Given the description of an element on the screen output the (x, y) to click on. 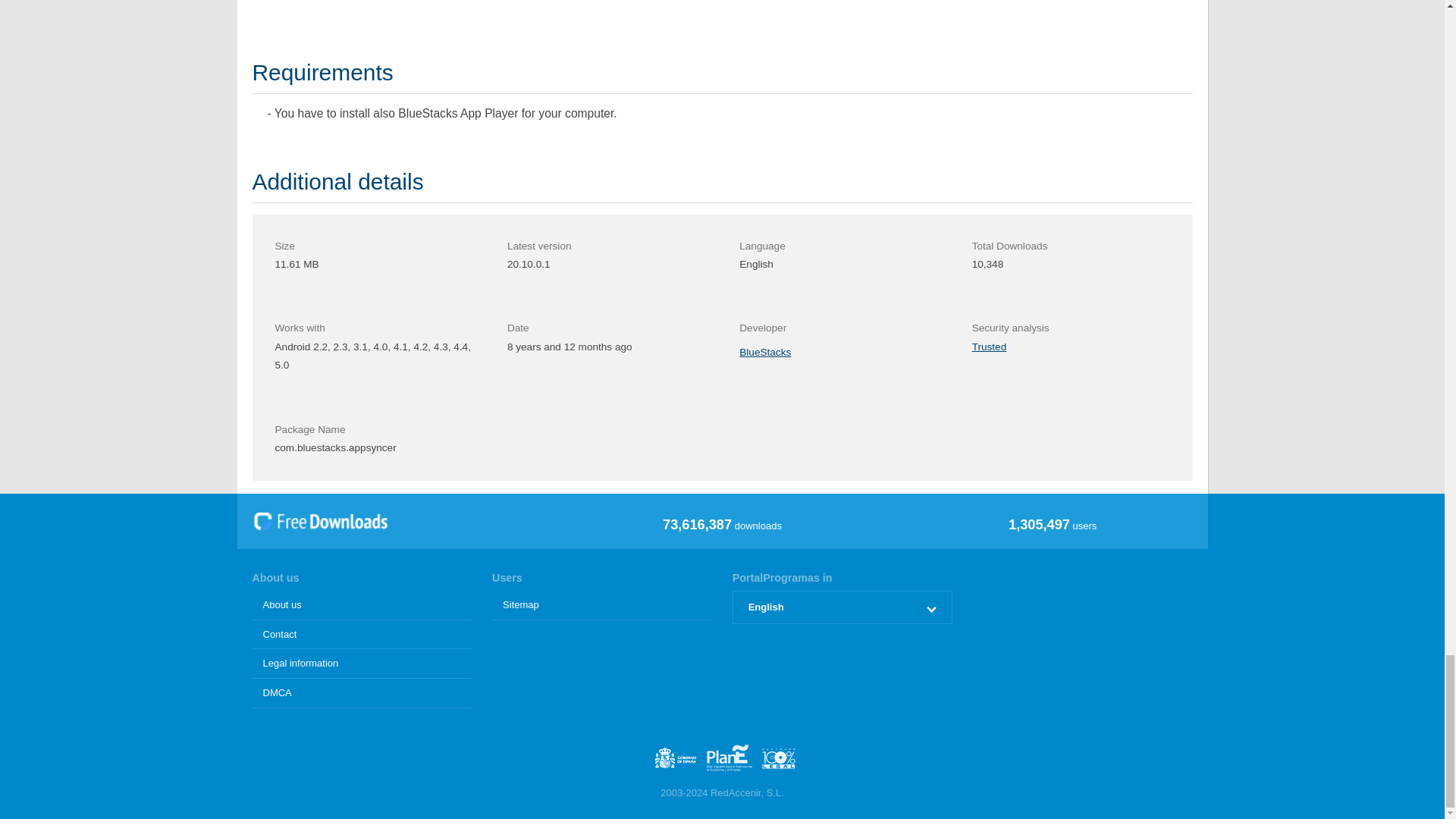
Legal information (361, 663)
BlueStacks (764, 352)
DMCA (361, 693)
About PortalProgramas (361, 604)
Contact (361, 634)
About us (361, 604)
Sitemap (601, 604)
Legal information (361, 663)
Sitemap (601, 604)
